Given the description of an element on the screen output the (x, y) to click on. 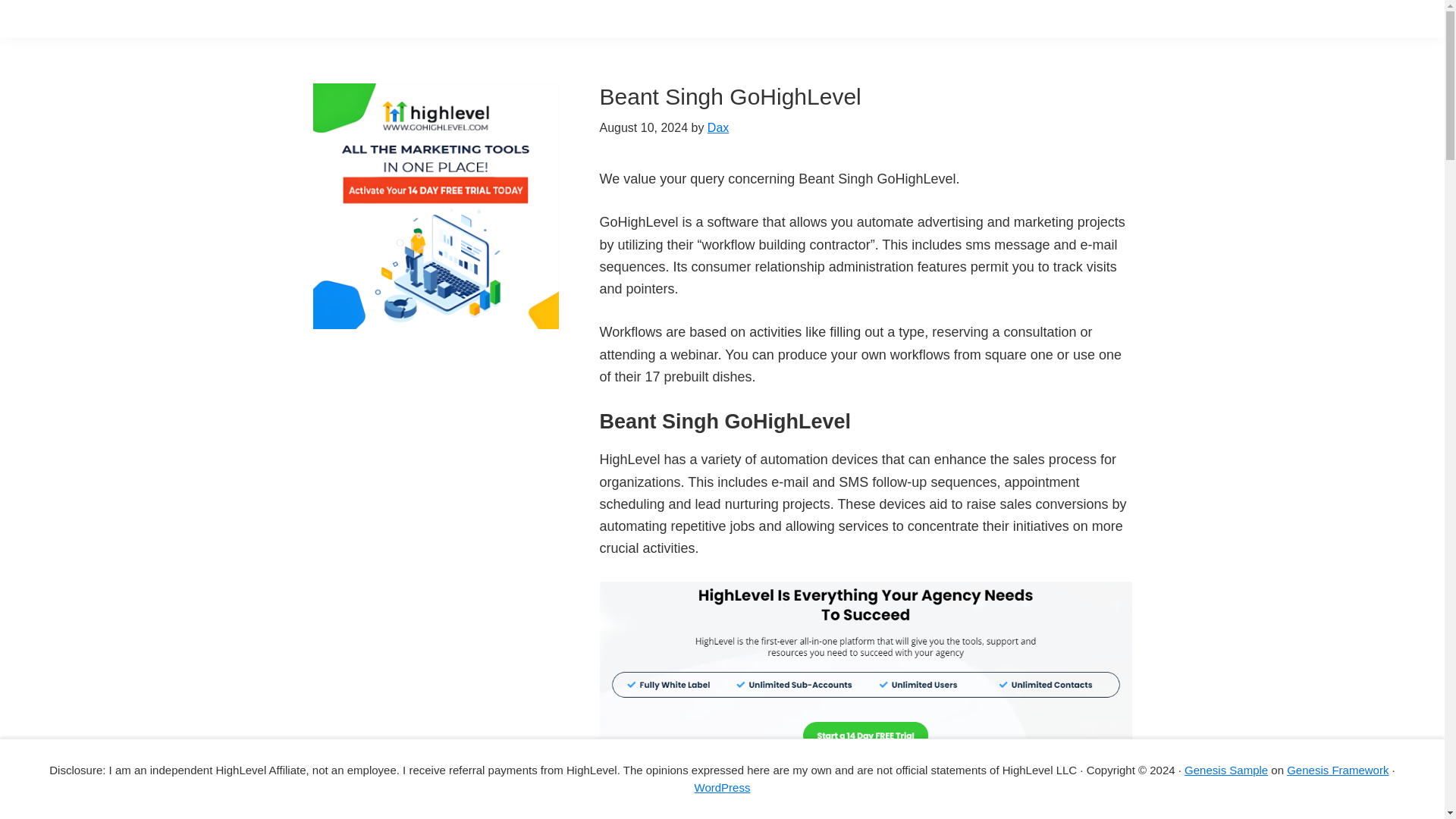
Dax (718, 127)
Genesis Sample (1226, 769)
Genesis Framework (1338, 769)
WordPress (722, 787)
